Given the description of an element on the screen output the (x, y) to click on. 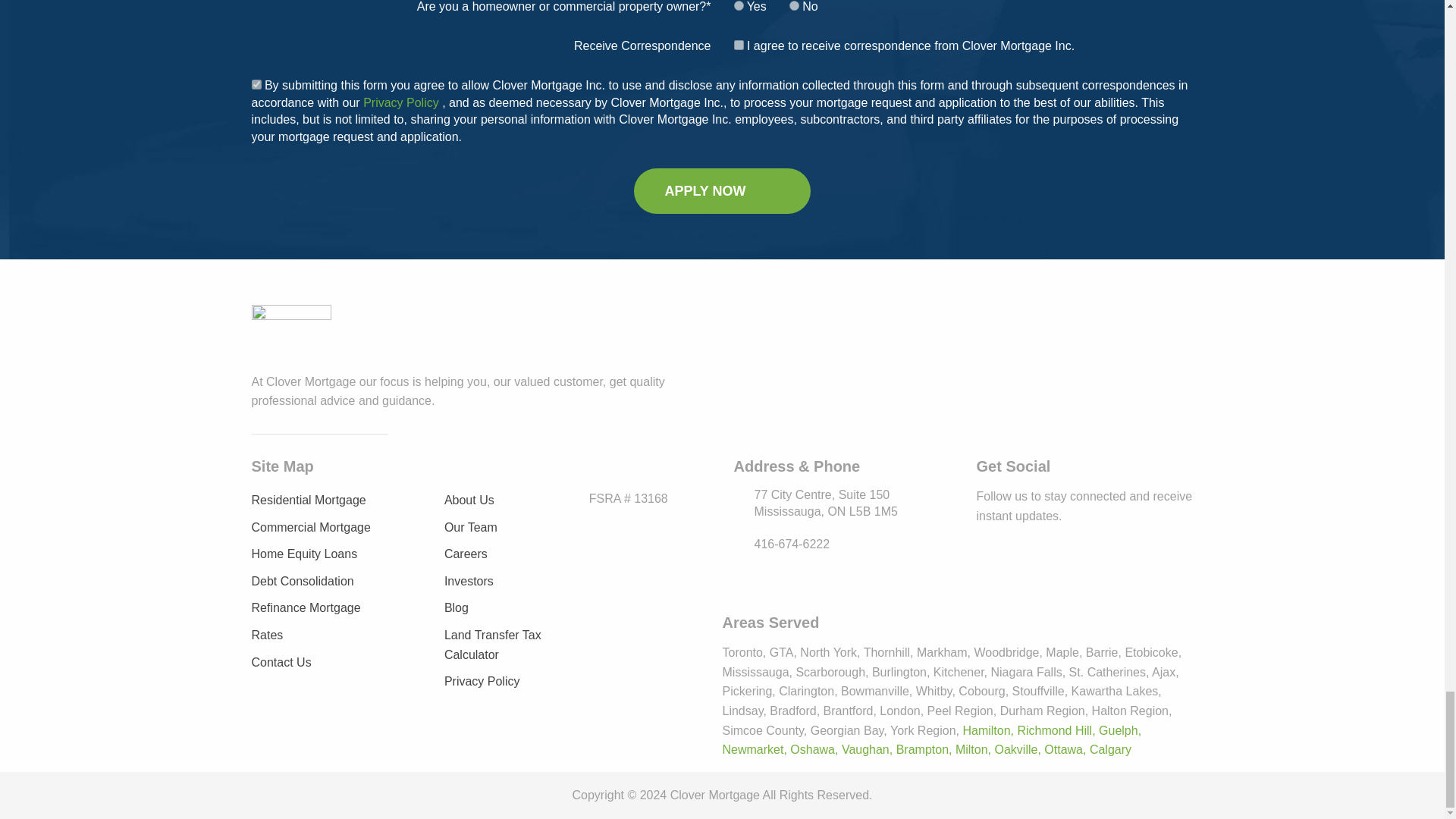
No (794, 5)
Yes (256, 84)
Yes (738, 44)
Yes (738, 5)
